Given the description of an element on the screen output the (x, y) to click on. 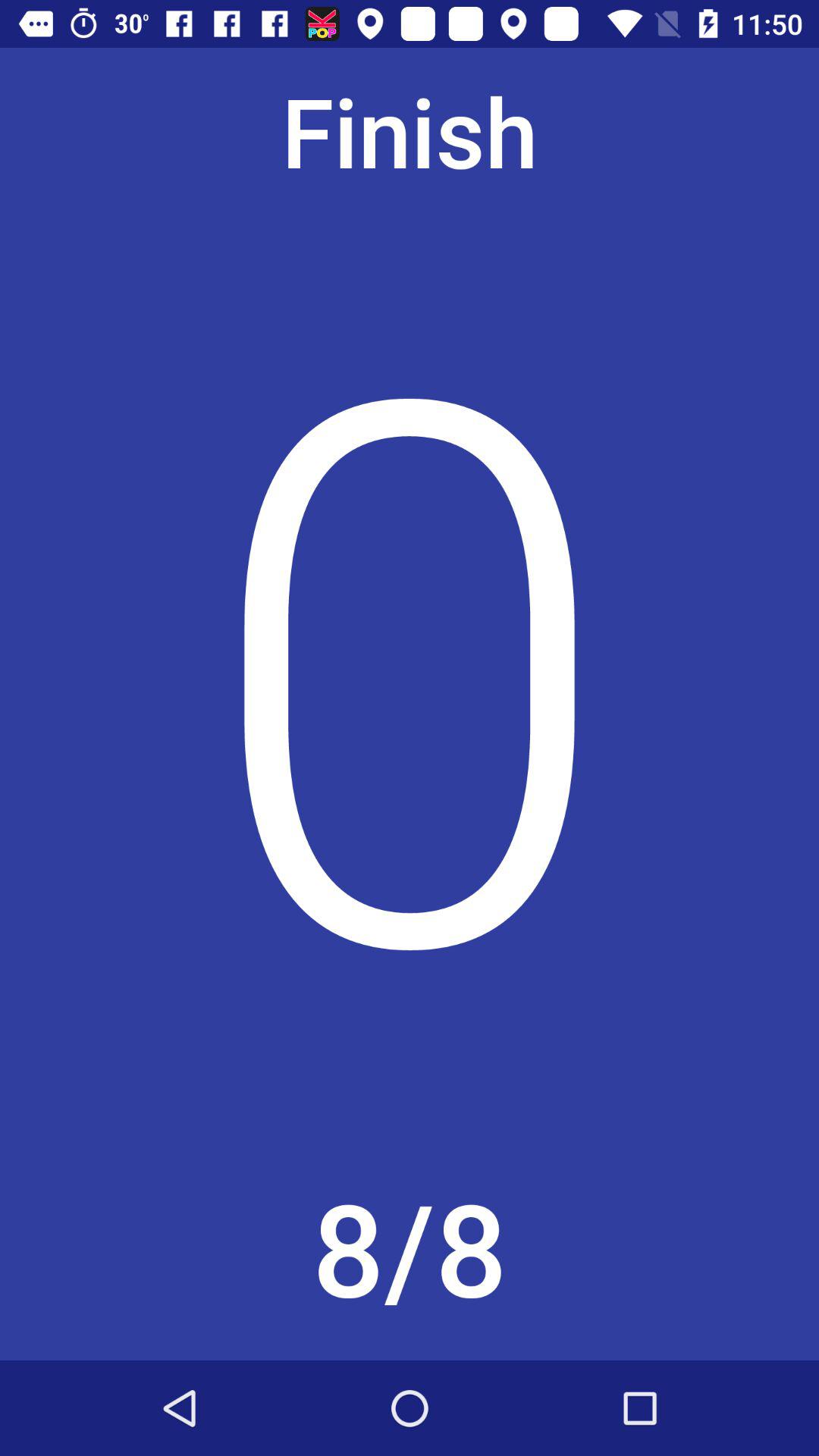
turn off item below the 0 icon (409, 1253)
